Given the description of an element on the screen output the (x, y) to click on. 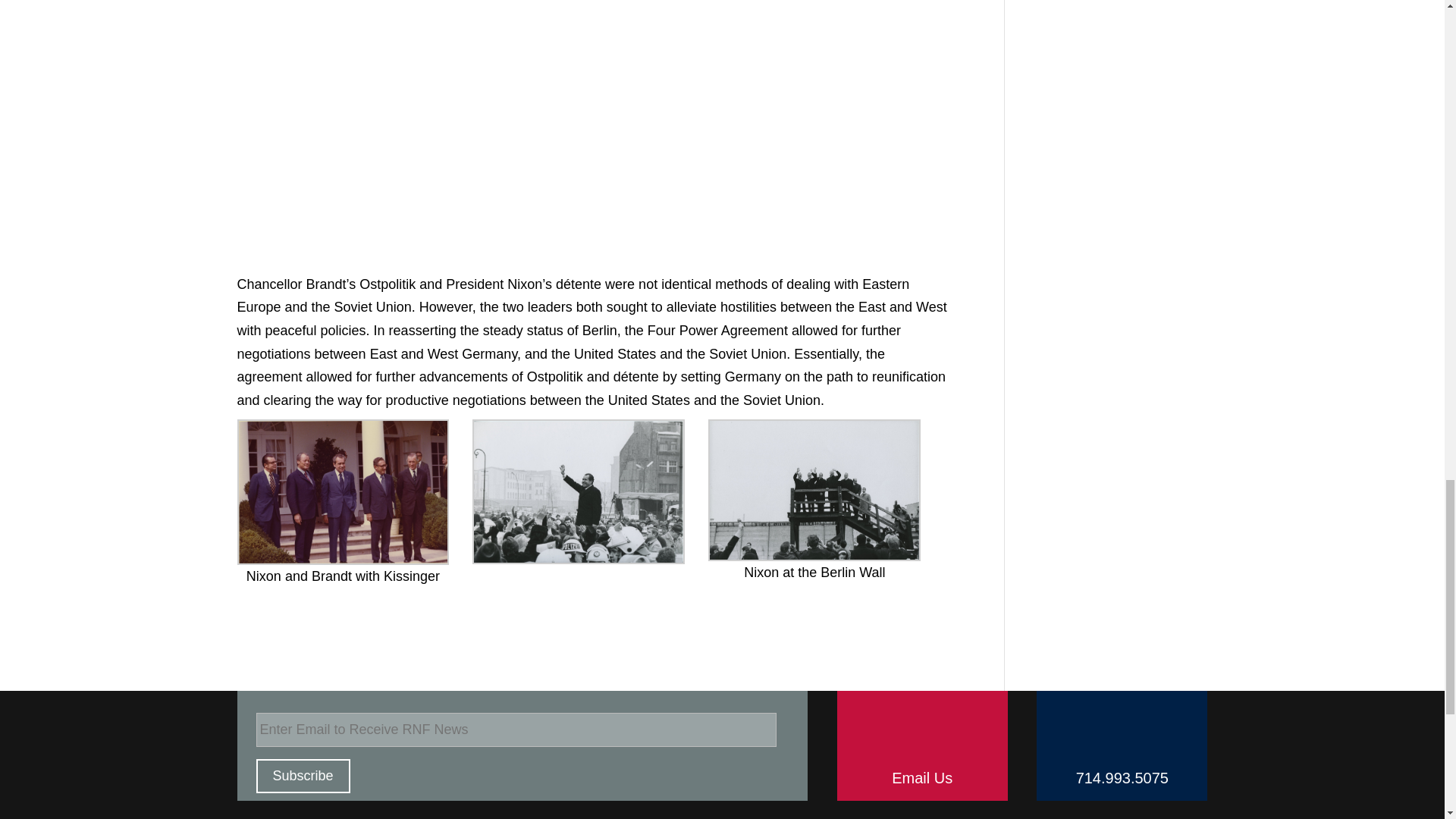
Subscribe (303, 776)
